Given the description of an element on the screen output the (x, y) to click on. 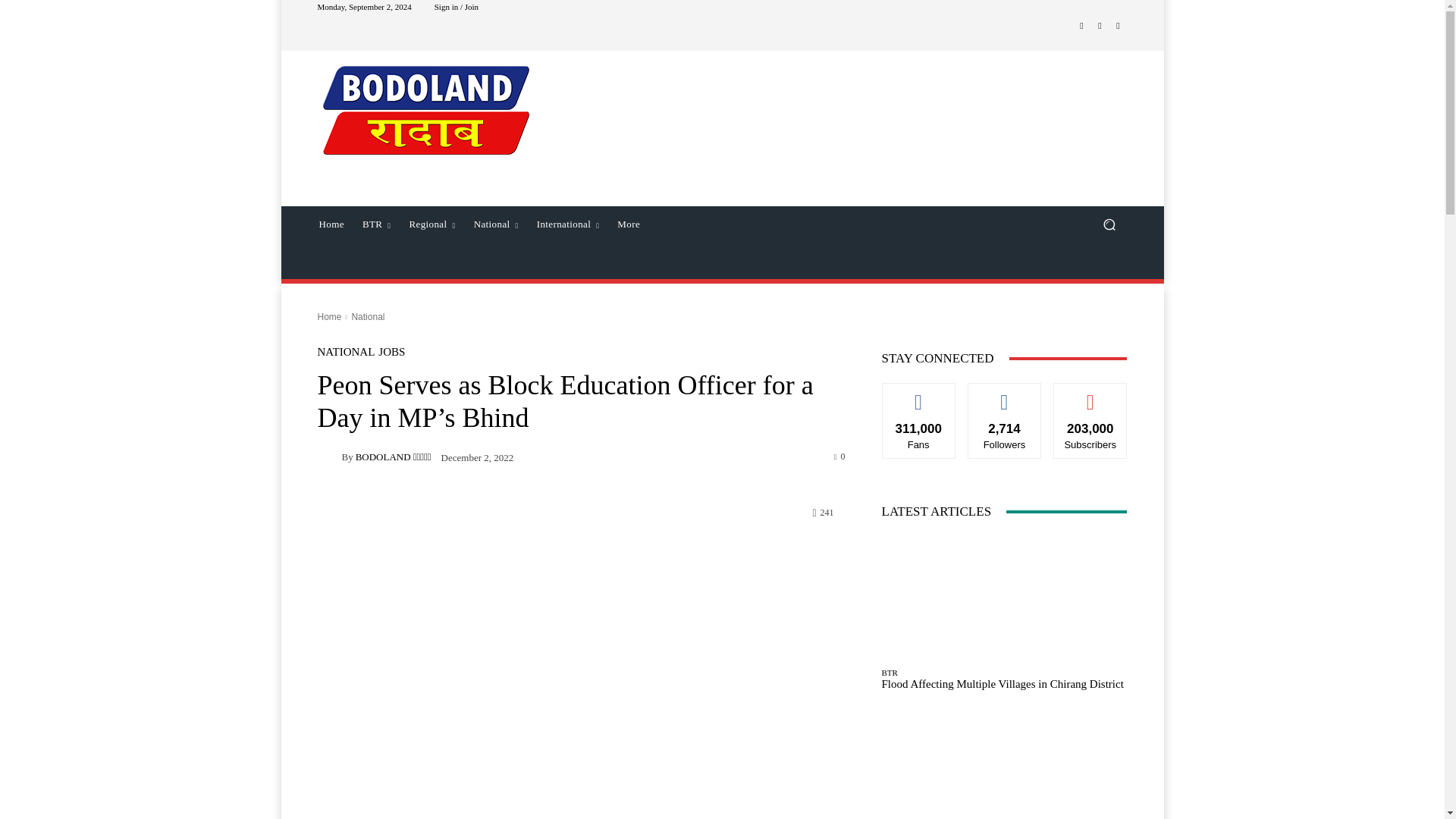
View all posts in National (367, 317)
Youtube (1117, 25)
Facebook (1080, 25)
Instagram (1099, 25)
